Given the description of an element on the screen output the (x, y) to click on. 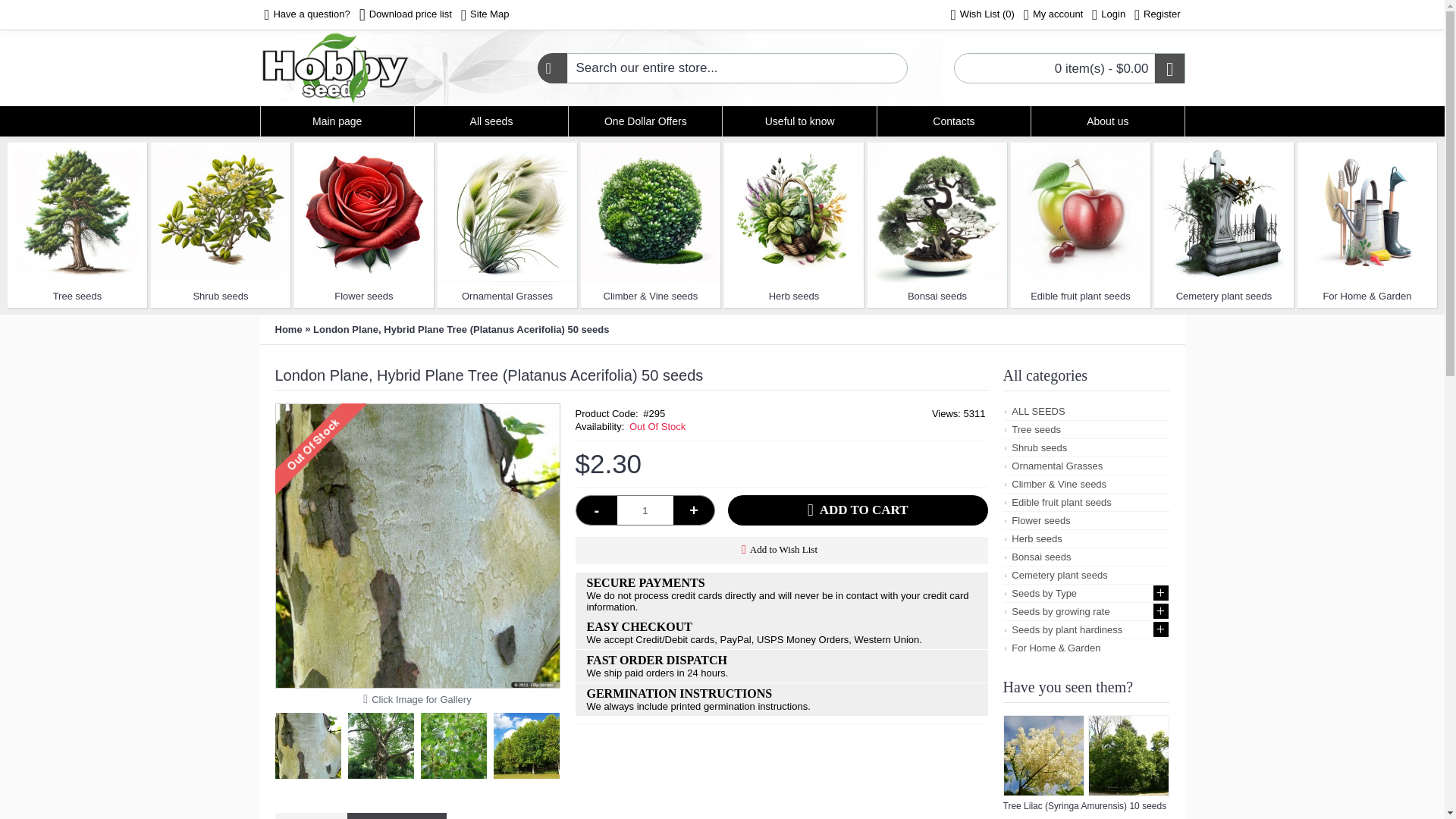
Site Map (485, 15)
Cemetery plant seeds (1224, 211)
One Dollar Offers (645, 121)
Useful to know (799, 121)
HobbySeeds (334, 68)
Herb seeds (793, 211)
Edible fruit plant seeds (1080, 211)
Tree seeds (77, 294)
About us (1106, 121)
Contacts (953, 121)
